Given the description of an element on the screen output the (x, y) to click on. 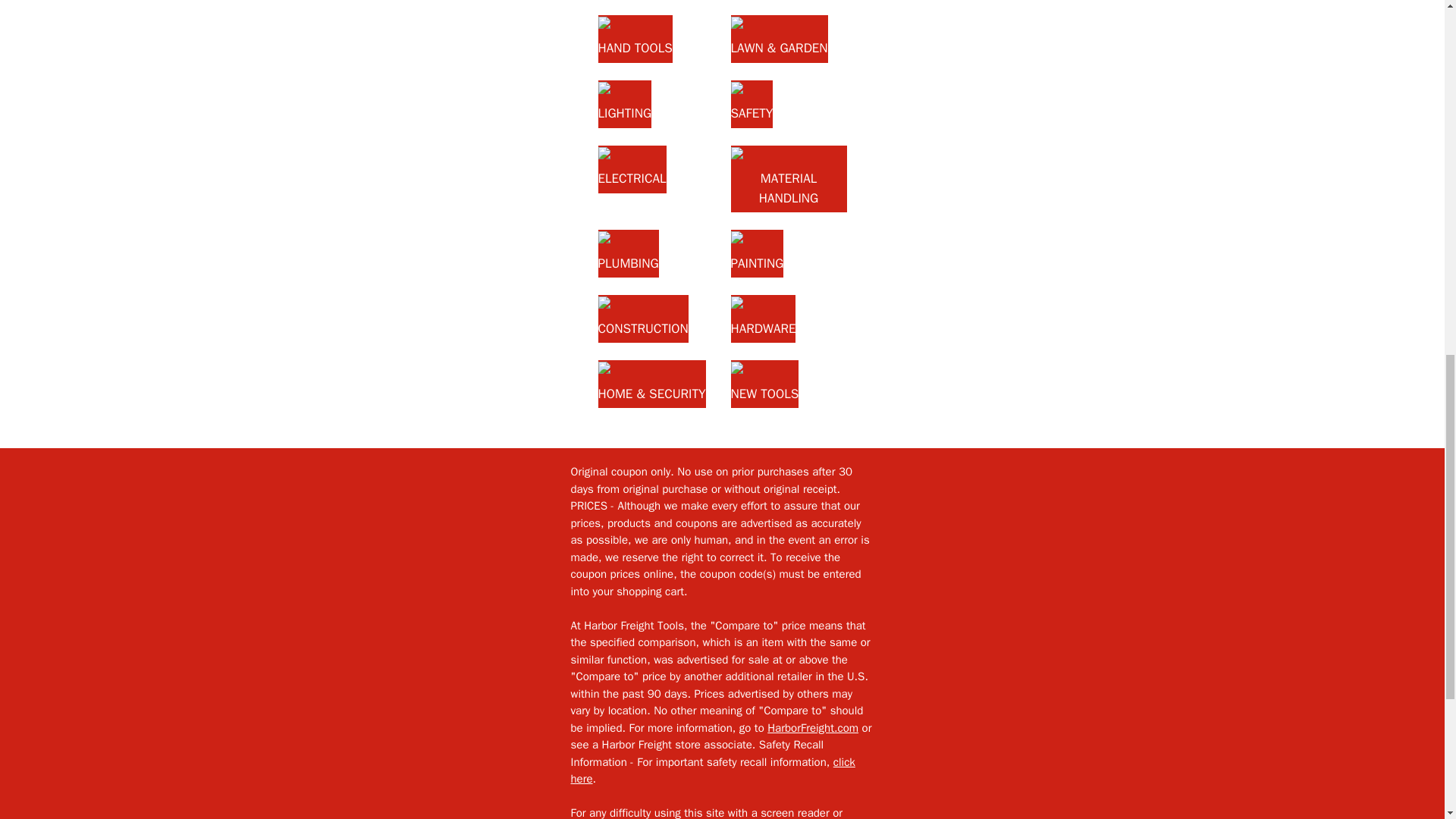
CONSTRUCTION (641, 318)
PLUMBING (627, 253)
HarborFreight.com (813, 727)
HARDWARE (763, 318)
PAINTING (757, 253)
LIGHTING (623, 103)
MATERIAL HANDLING (788, 178)
SAFETY (751, 103)
NEW TOOLS (764, 383)
ELECTRICAL (630, 169)
